Given the description of an element on the screen output the (x, y) to click on. 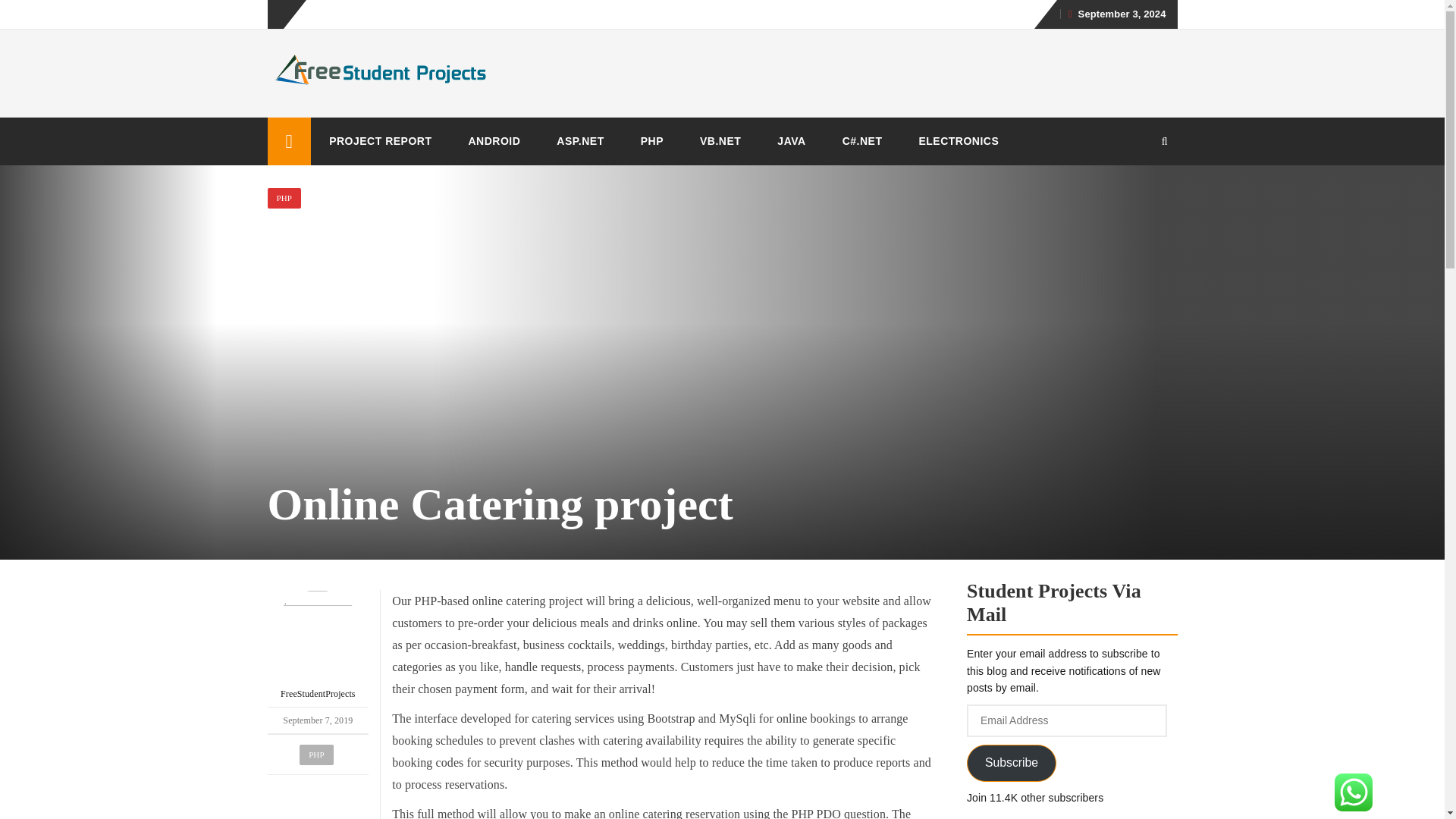
JAVA (791, 140)
Free Student Projects (288, 141)
WhatsApp us (1354, 792)
ANDROID (493, 140)
PHP (316, 754)
VB.NET (719, 140)
PROJECT REPORT (380, 140)
